Given the description of an element on the screen output the (x, y) to click on. 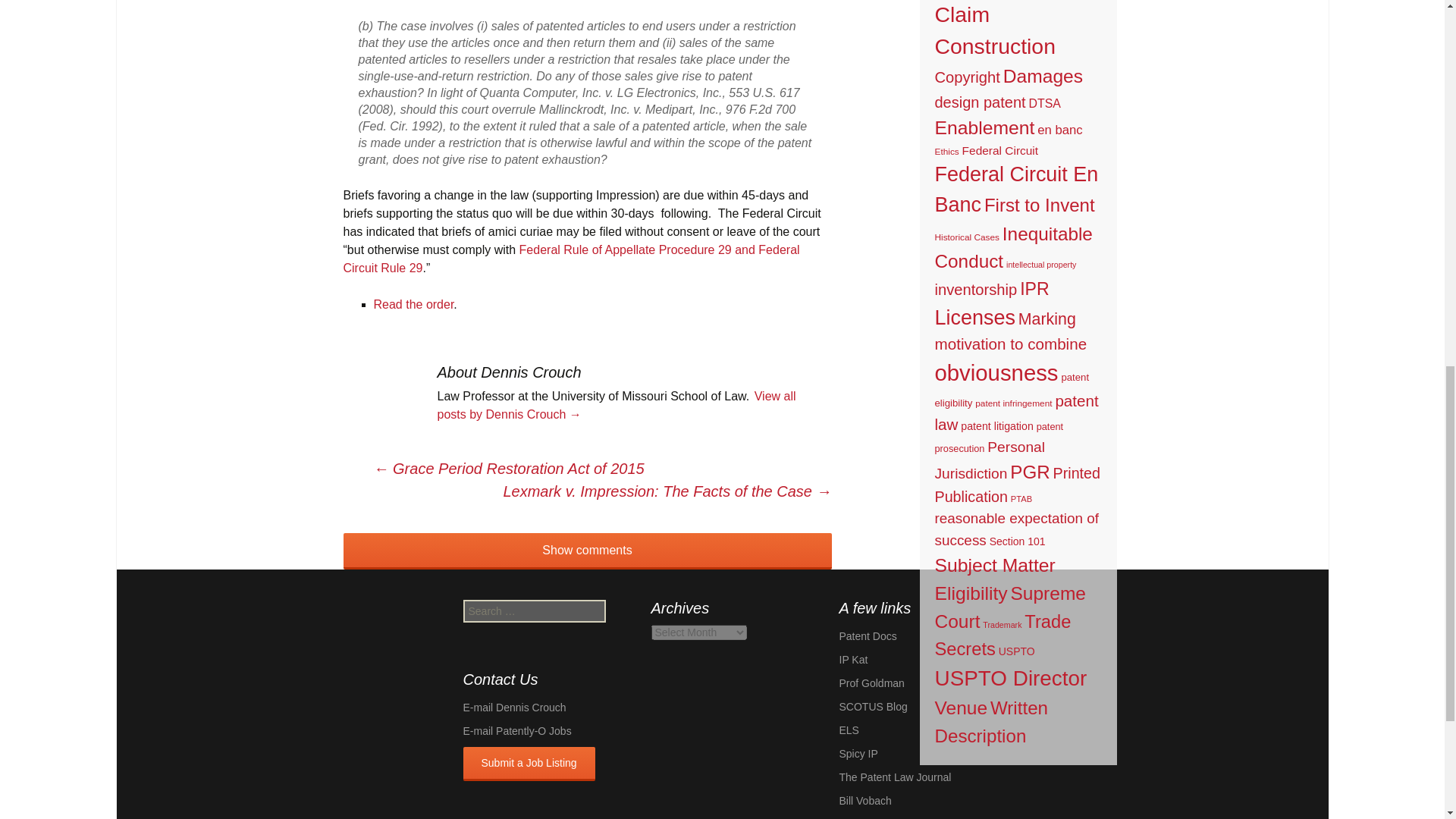
Read the order (412, 304)
Show comments (586, 551)
